Given the description of an element on the screen output the (x, y) to click on. 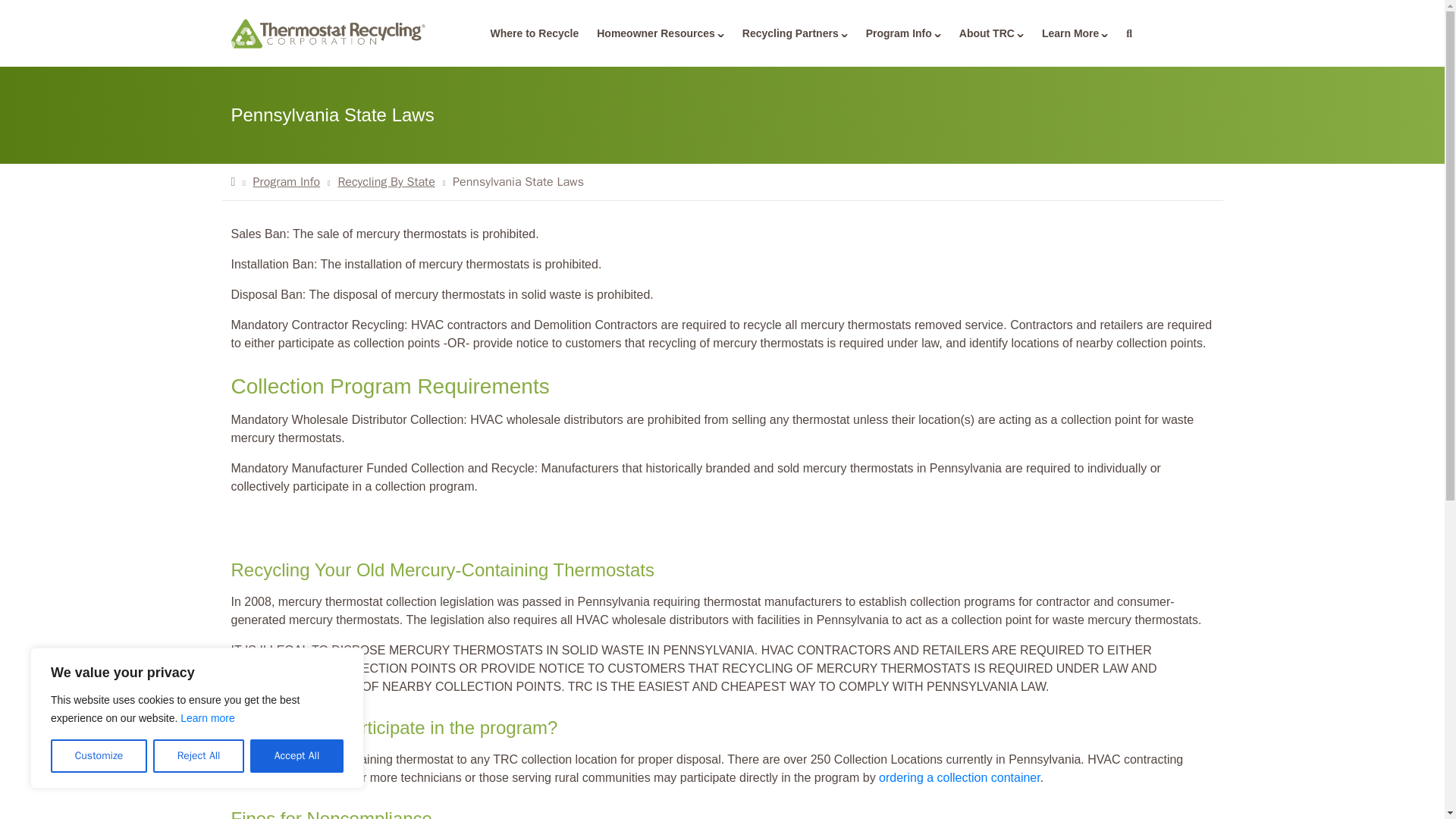
Go to Program Info. (286, 181)
Customize (98, 756)
Recycling Partners (795, 33)
About TRC (991, 33)
Learn more (207, 717)
Learn More (1074, 33)
Where to Recycle (534, 33)
Homeowner Resources (660, 33)
Reject All (198, 756)
Go to Recycling By State. (385, 181)
Program Info (903, 33)
Accept All (296, 756)
